Given the description of an element on the screen output the (x, y) to click on. 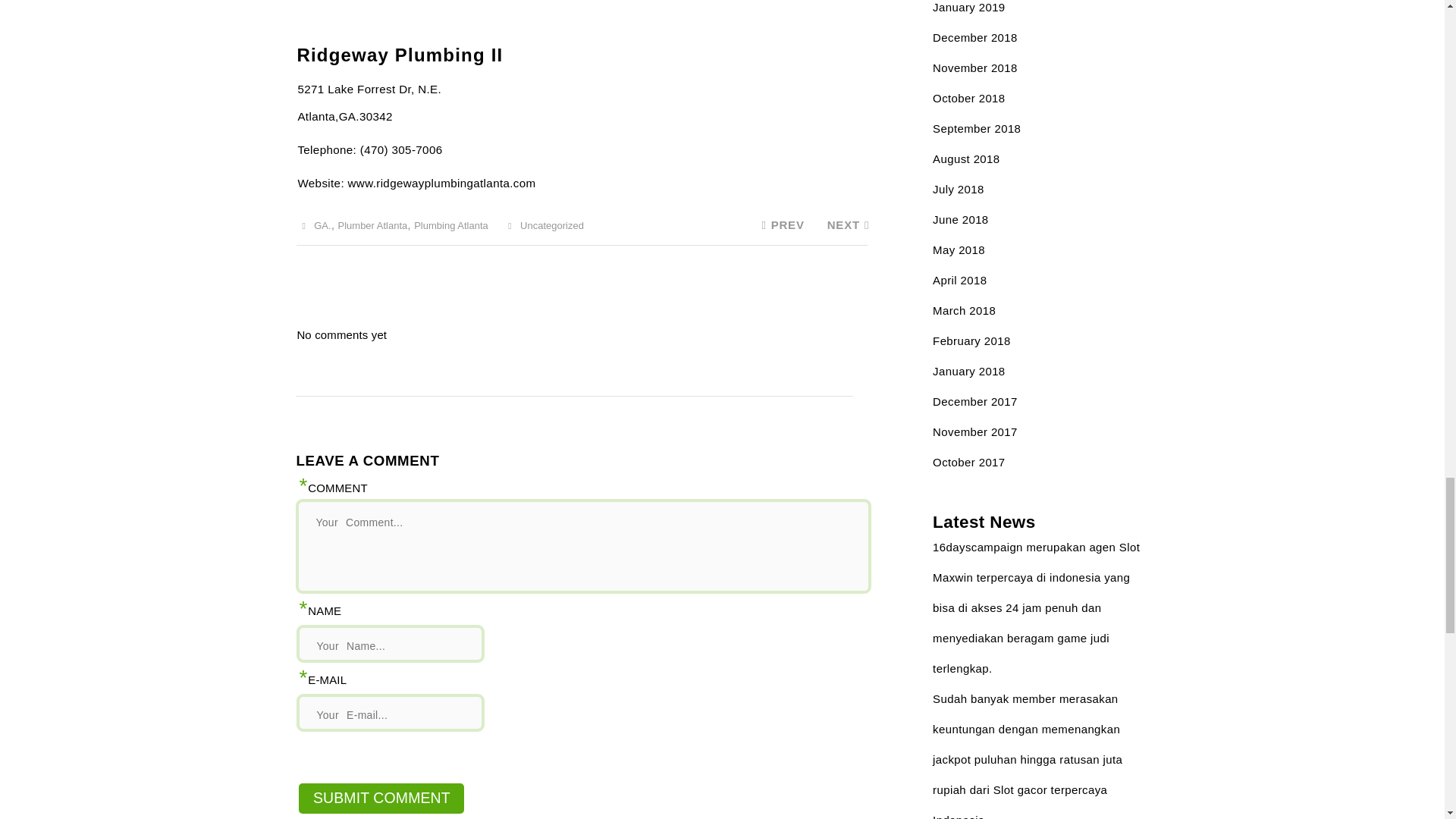
PREV (780, 224)
Plumber Atlanta (372, 225)
submit comment (381, 798)
submit comment (381, 798)
NEXT (848, 224)
Uncategorized (551, 225)
GA. (322, 225)
Plumbing Atlanta (450, 225)
